Given the description of an element on the screen output the (x, y) to click on. 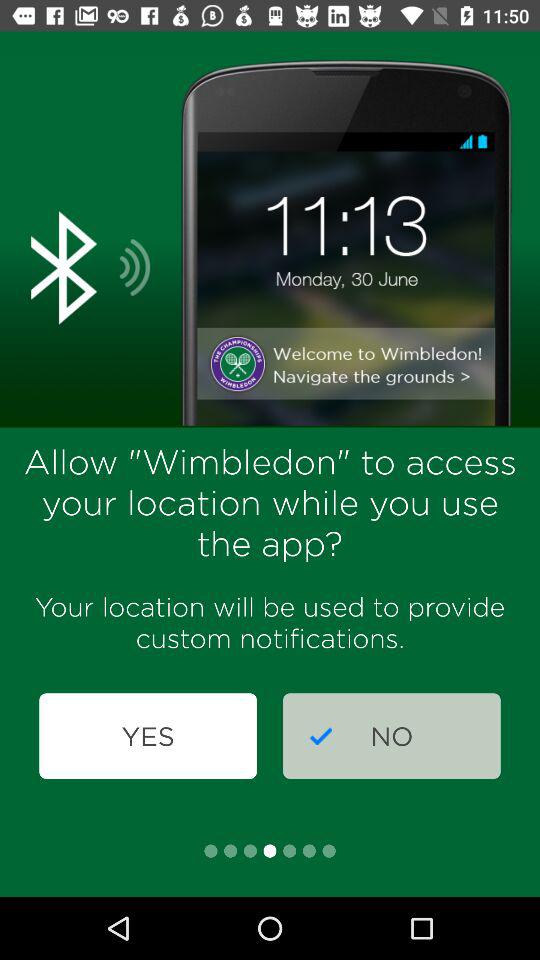
click the item next to the no icon (147, 735)
